Given the description of an element on the screen output the (x, y) to click on. 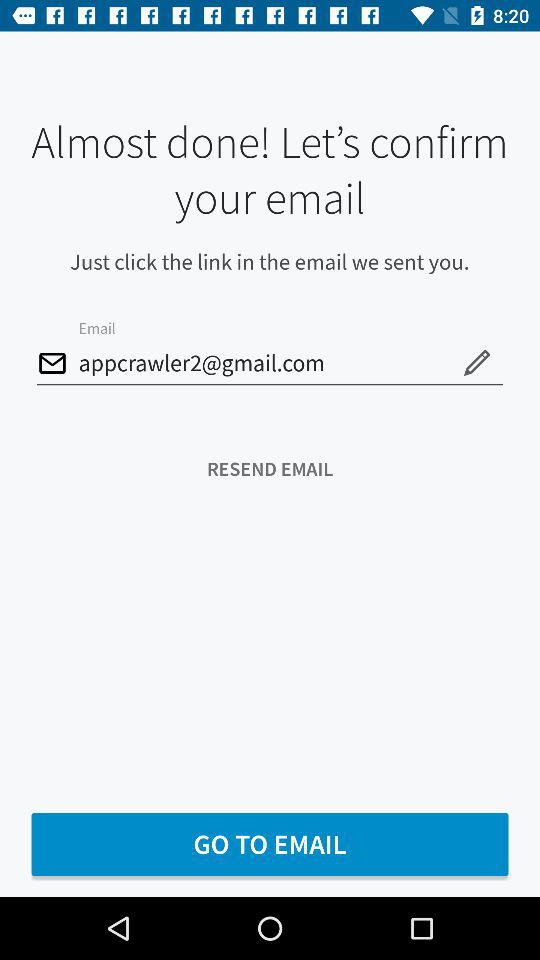
select the appcrawler2@gmail.com item (269, 363)
